Given the description of an element on the screen output the (x, y) to click on. 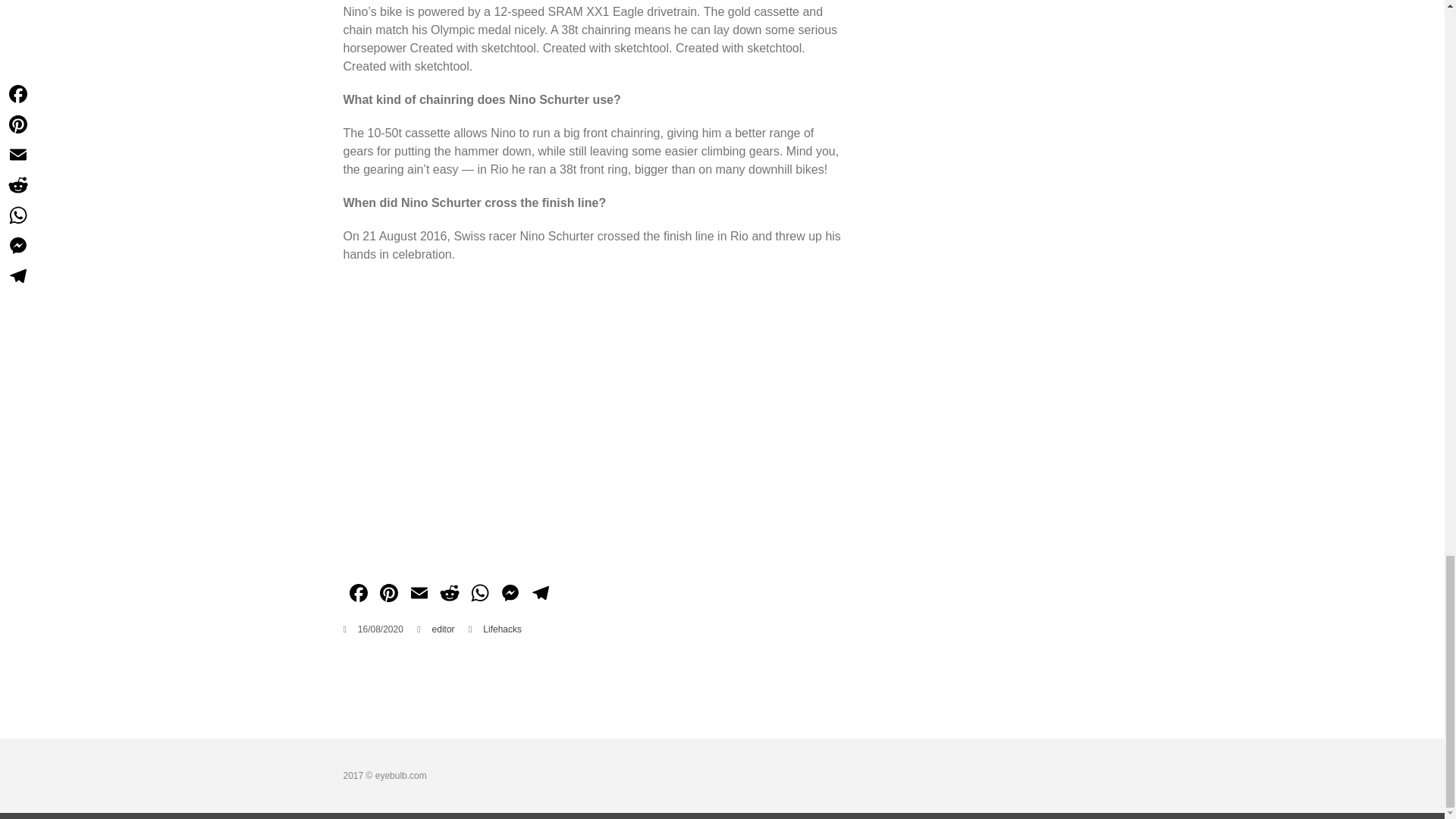
Reddit (448, 594)
Pinterest (387, 594)
Email (418, 594)
Messenger (509, 594)
Pinterest (387, 594)
Facebook (357, 594)
Messenger (509, 594)
editor (443, 629)
View all posts in Lifehacks (502, 629)
Telegram (539, 594)
Reddit (448, 594)
Lifehacks (502, 629)
WhatsApp (479, 594)
Email (418, 594)
View all posts by editor (443, 629)
